Given the description of an element on the screen output the (x, y) to click on. 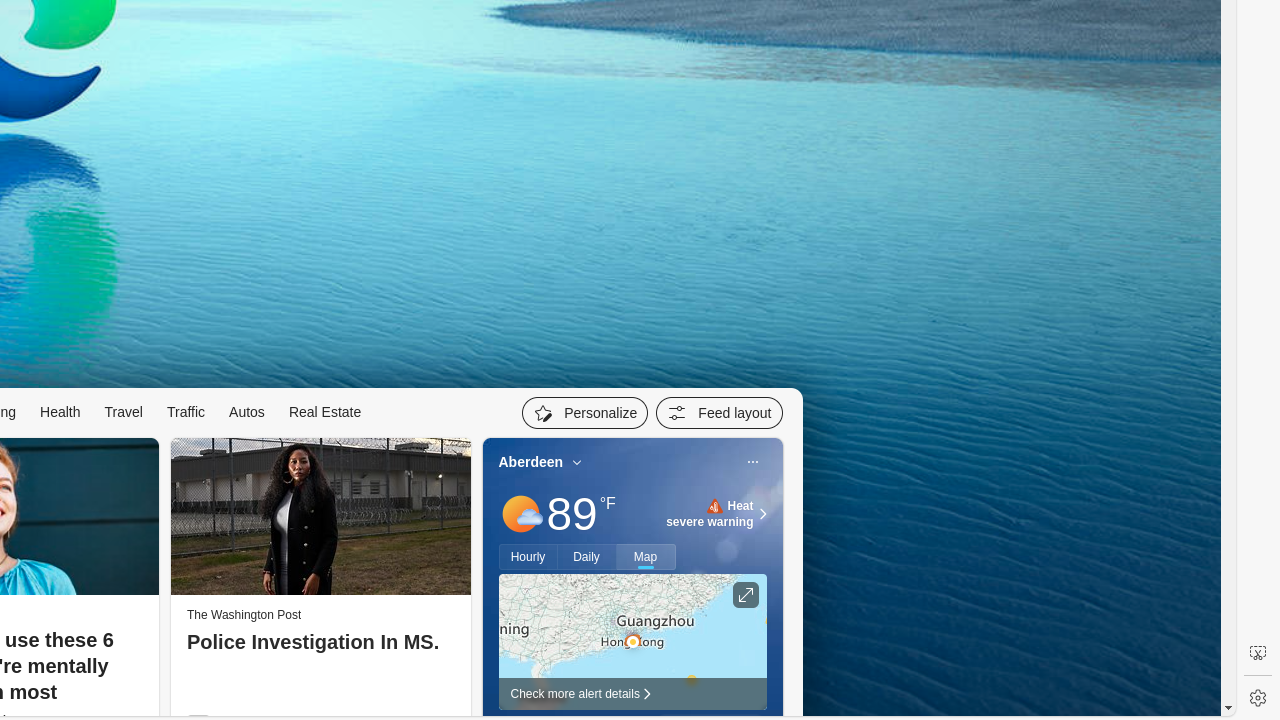
Hourly Element type: list-item (528, 557)
Health Element type: link (60, 412)
Heat - Severe Heat severe warning Element type: link (710, 514)
